Given the description of an element on the screen output the (x, y) to click on. 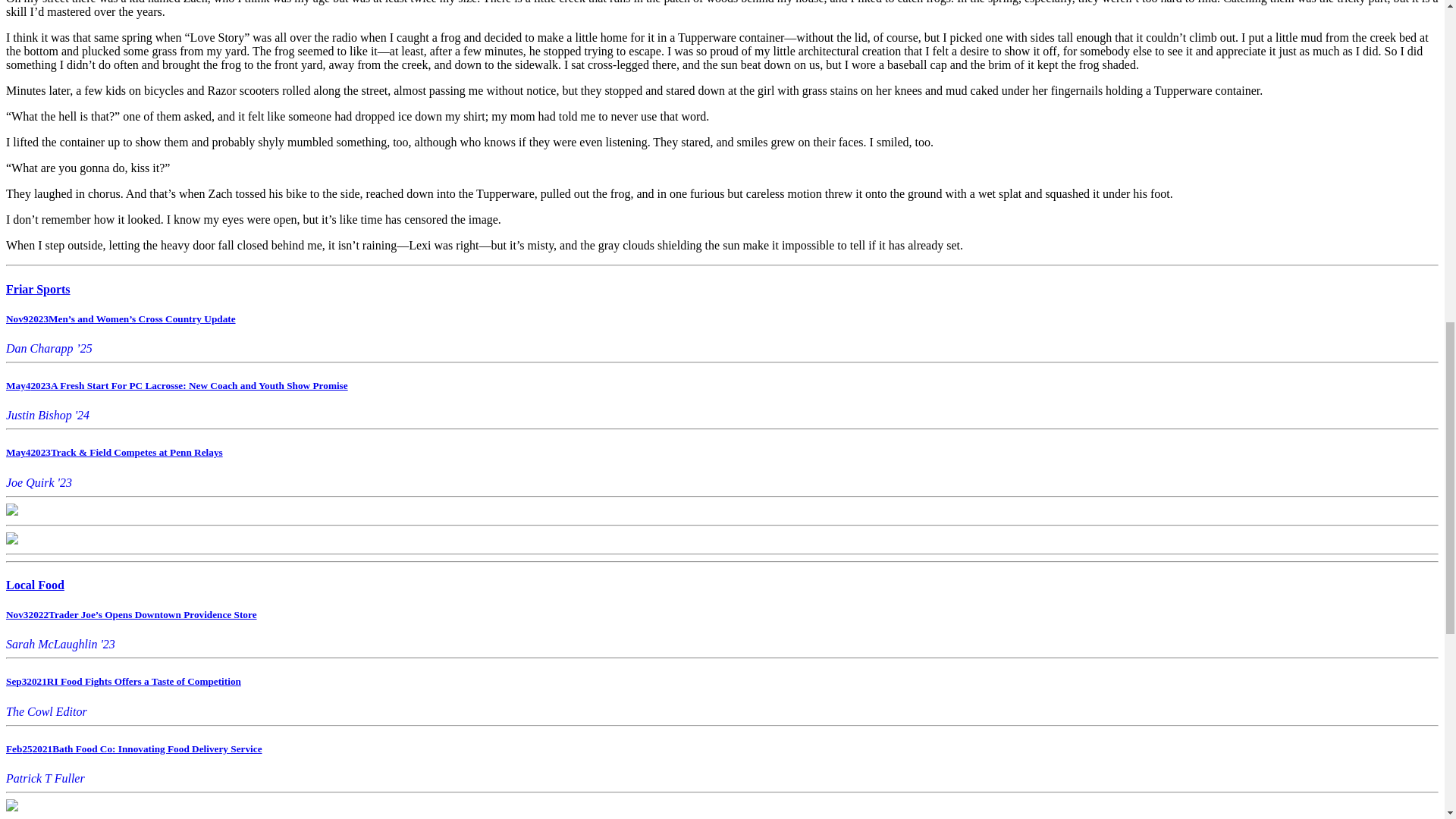
Friar Sports (37, 288)
Local Food (34, 584)
